Given the description of an element on the screen output the (x, y) to click on. 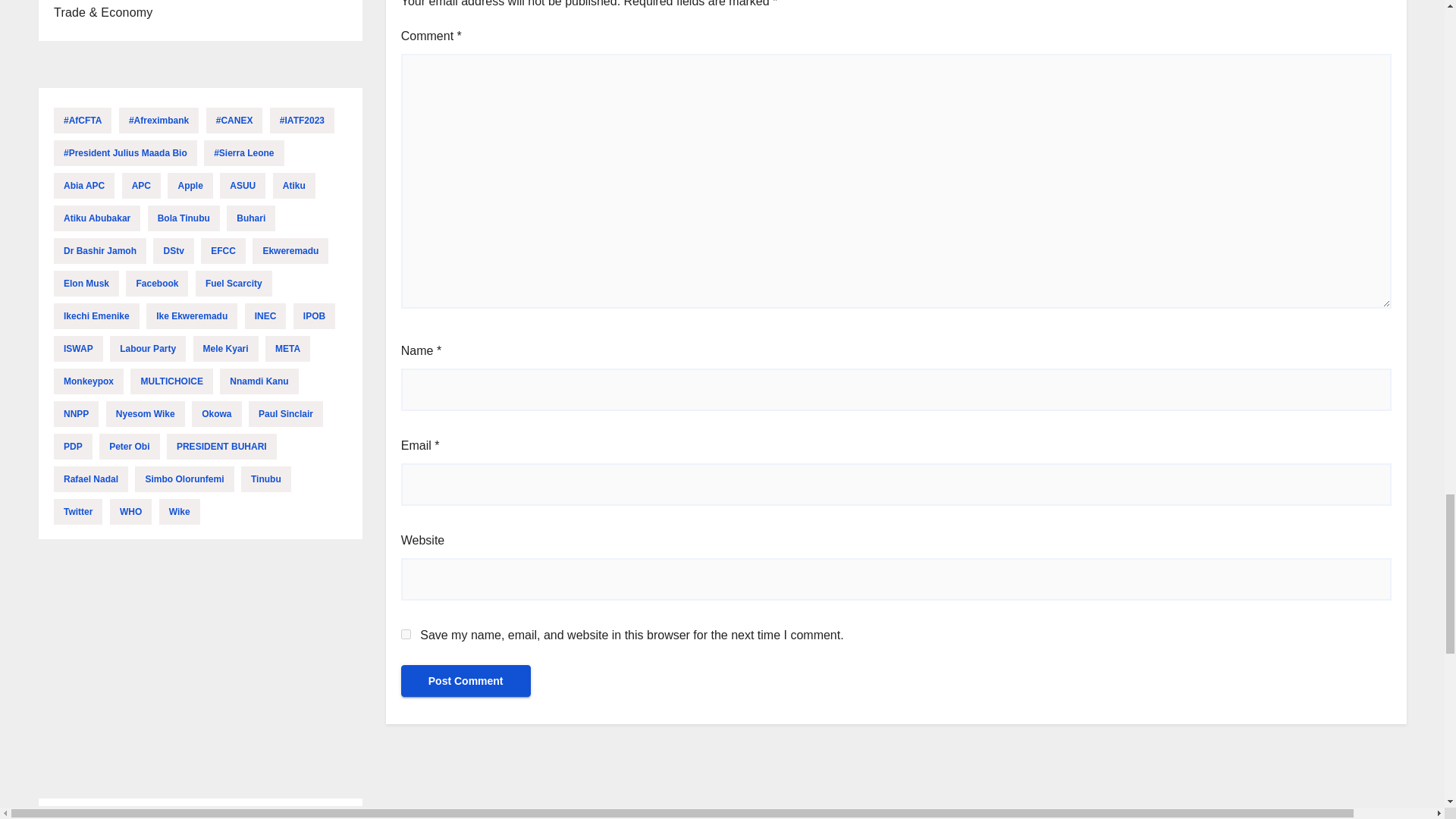
yes (405, 634)
Post Comment (466, 680)
